Given the description of an element on the screen output the (x, y) to click on. 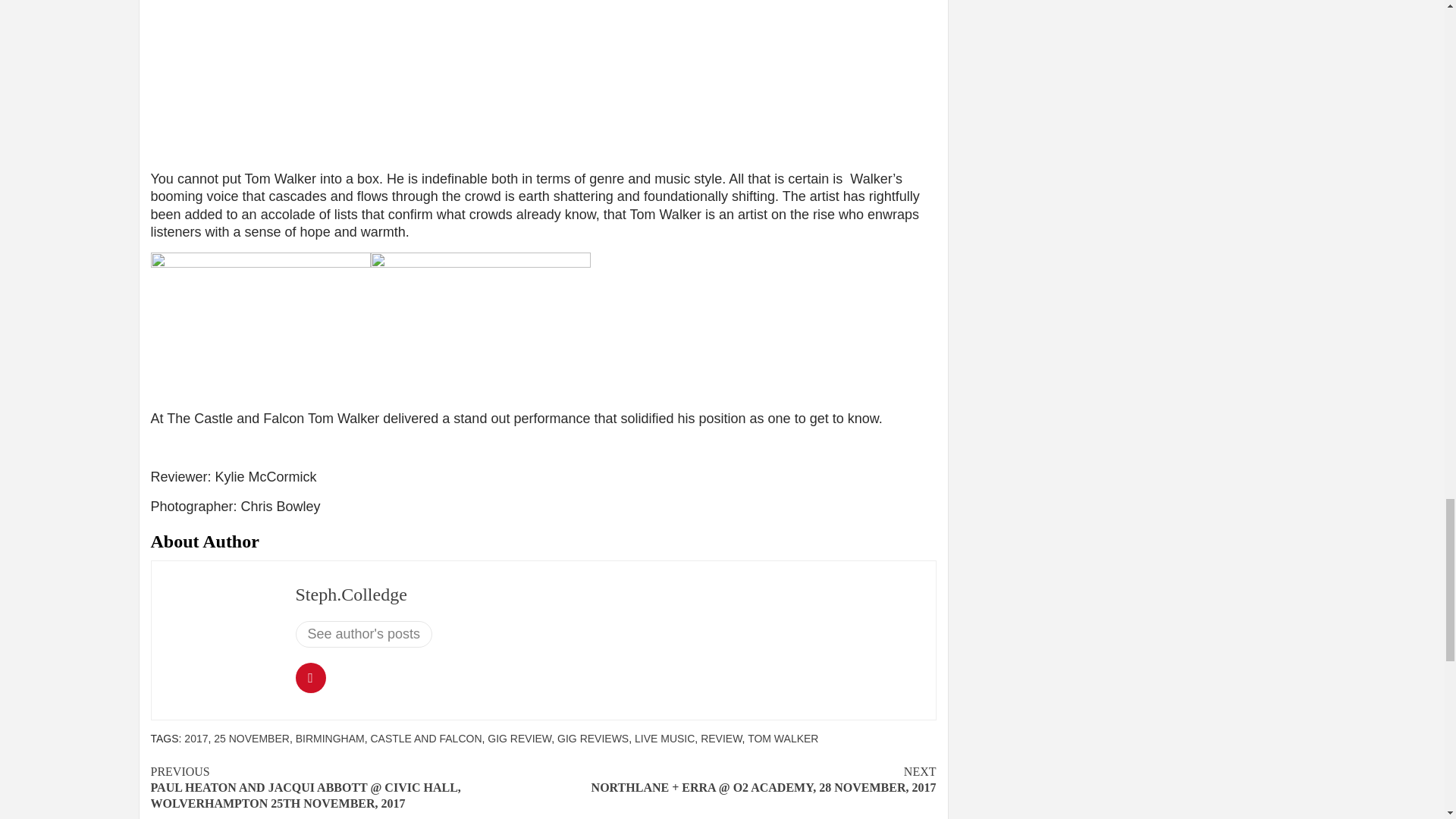
GIG REVIEWS (592, 738)
Steph.Colledge (351, 594)
25 NOVEMBER (251, 738)
REVIEW (720, 738)
BIRMINGHAM (330, 738)
TOM WALKER (783, 738)
See author's posts (363, 633)
2017 (196, 738)
LIVE MUSIC (664, 738)
GIG REVIEW (519, 738)
